Given the description of an element on the screen output the (x, y) to click on. 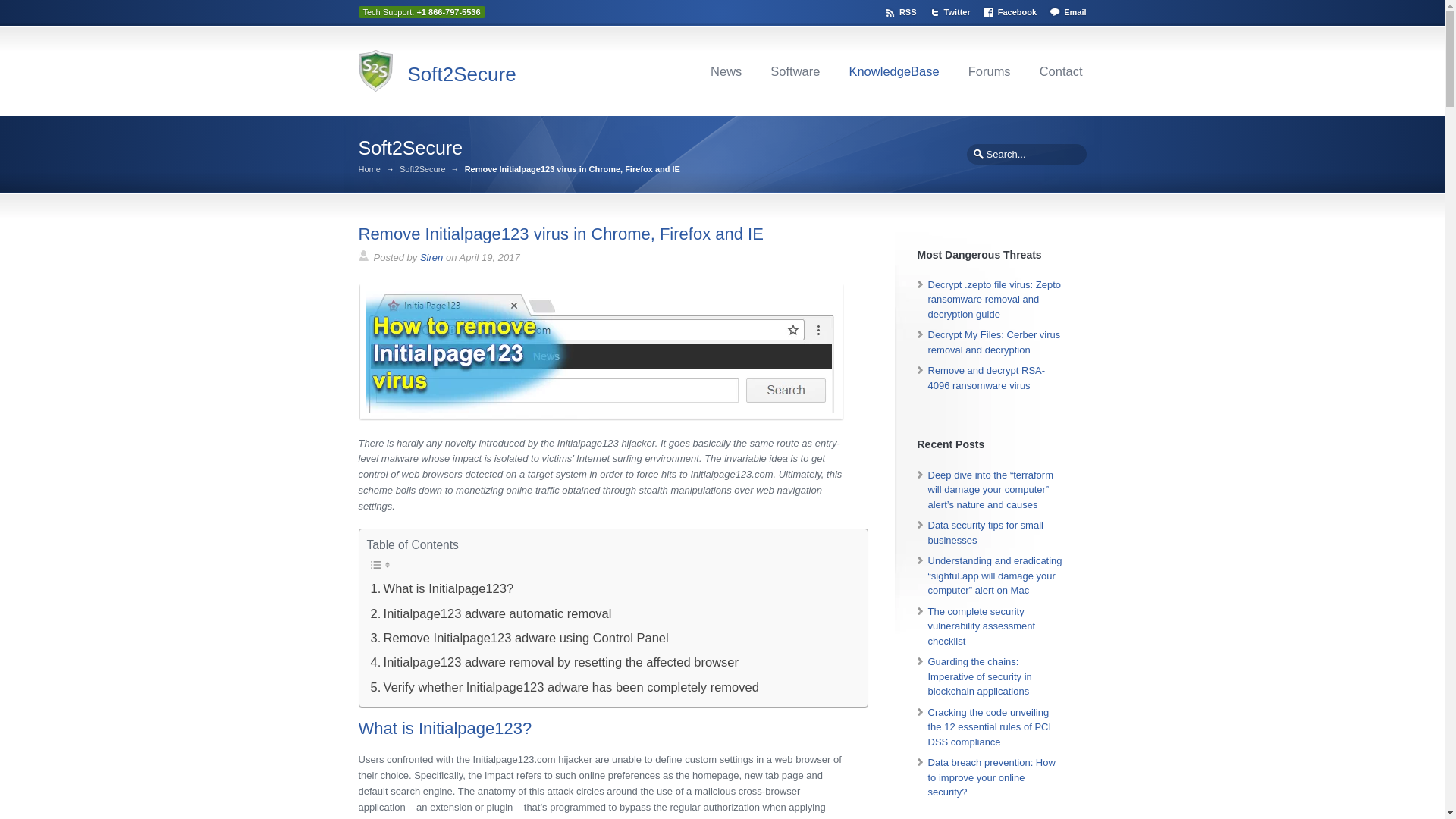
Initialpage123 adware automatic removal (490, 613)
Remove Initialpage123 adware using Control Panel (519, 637)
Initialpage123 adware automatic removal (490, 613)
What is Initialpage123? (442, 588)
RSS (902, 10)
KnowledgeBase (893, 71)
Posts by Siren (431, 256)
Soft2Secure (461, 74)
Home (369, 169)
What is Initialpage123? (442, 588)
Security Software (795, 71)
Contact (1060, 71)
KnowledgeBase (893, 71)
Twitter (951, 10)
Software (795, 71)
